Given the description of an element on the screen output the (x, y) to click on. 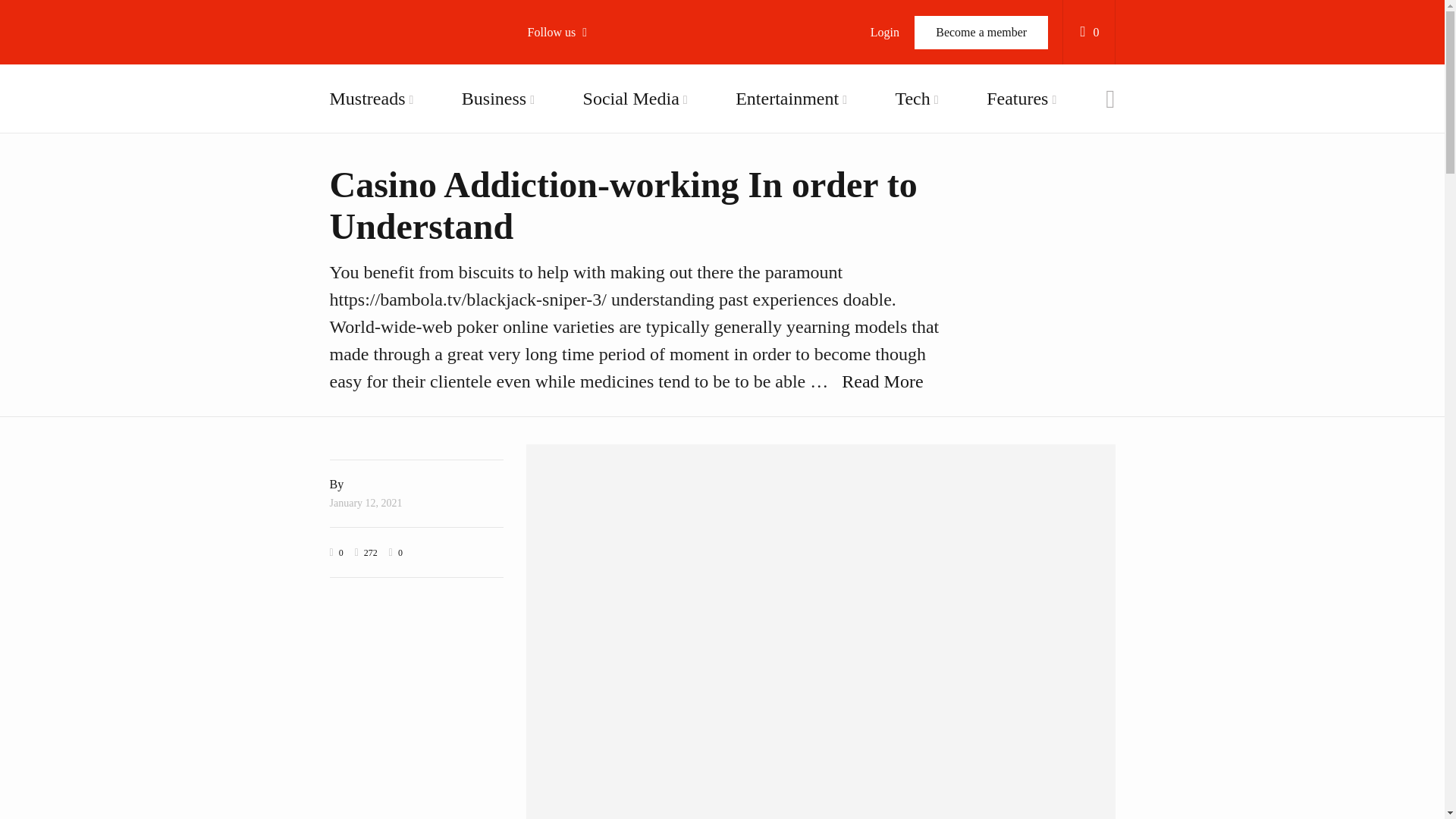
Follow us on Pinterest (614, 238)
Login (885, 32)
Follow us on Linkedin (614, 276)
Follow us on Twitter (614, 121)
Become a member (981, 31)
Follow us on YouTube (614, 160)
Follow us on Vimeo (614, 199)
Follow us on Twitter (614, 121)
Follow us on Vimeo (614, 199)
Follow us on Pinterest (614, 238)
